Given the description of an element on the screen output the (x, y) to click on. 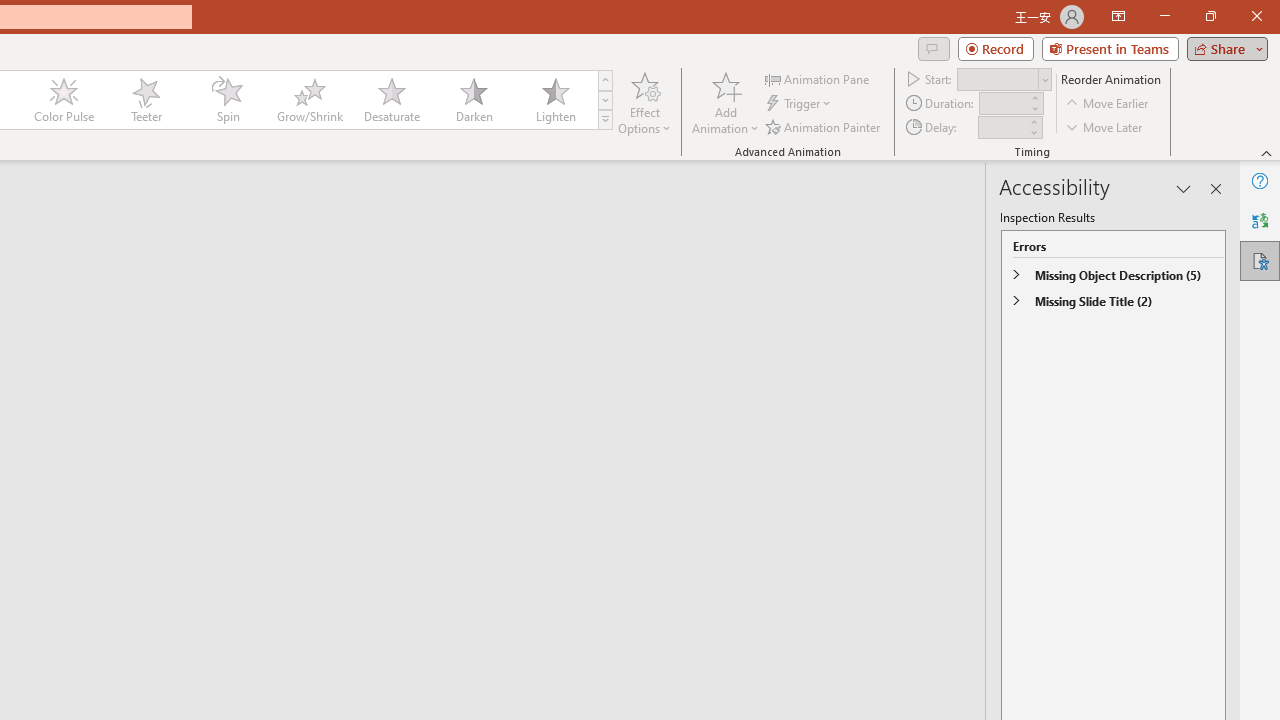
Animation Pane (818, 78)
Trigger (799, 103)
Effect Options (644, 102)
Color Pulse (63, 100)
Teeter (145, 100)
Animation Duration (1003, 103)
Lighten (555, 100)
